Given the description of an element on the screen output the (x, y) to click on. 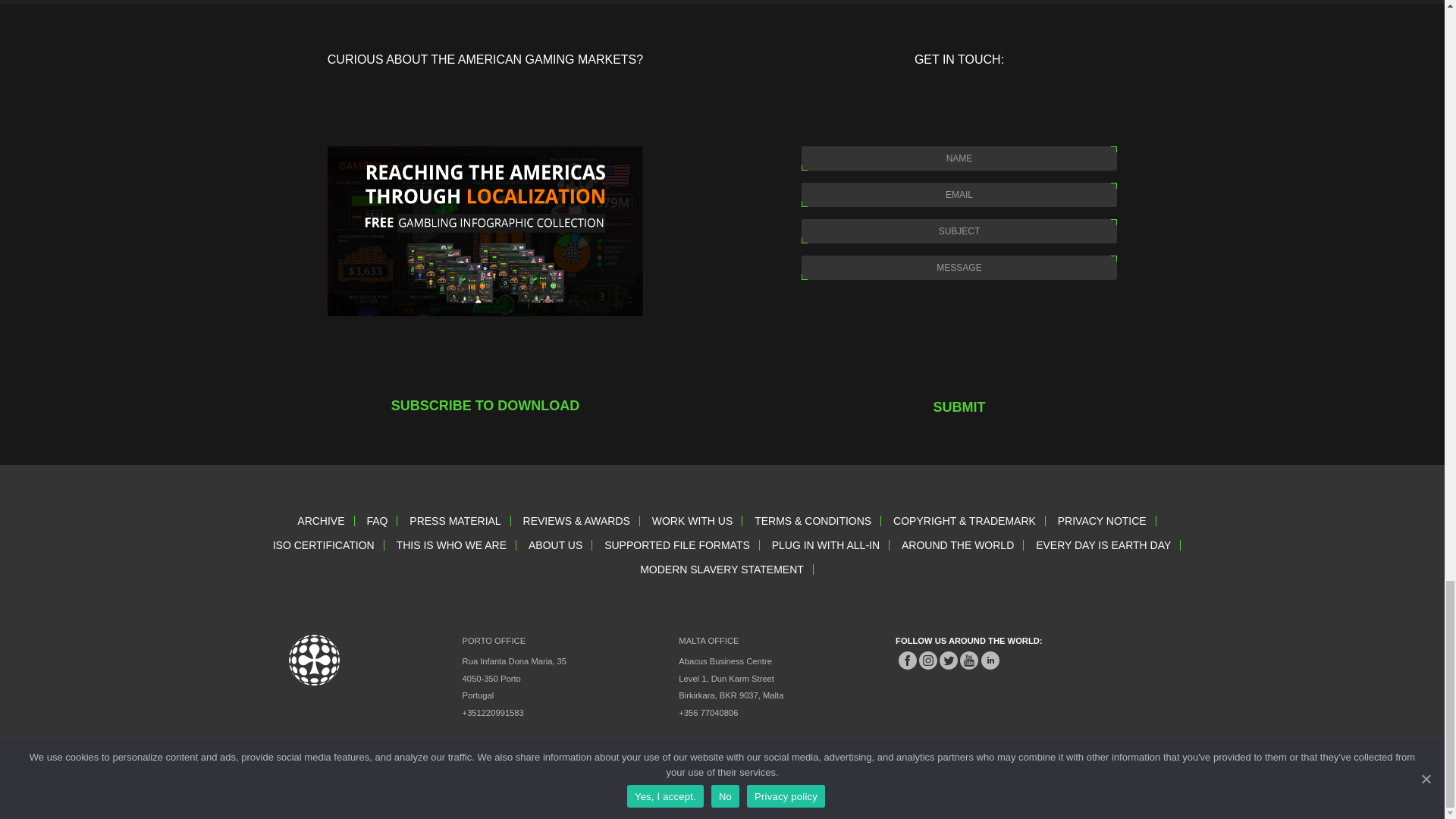
Submit (958, 406)
